Given the description of an element on the screen output the (x, y) to click on. 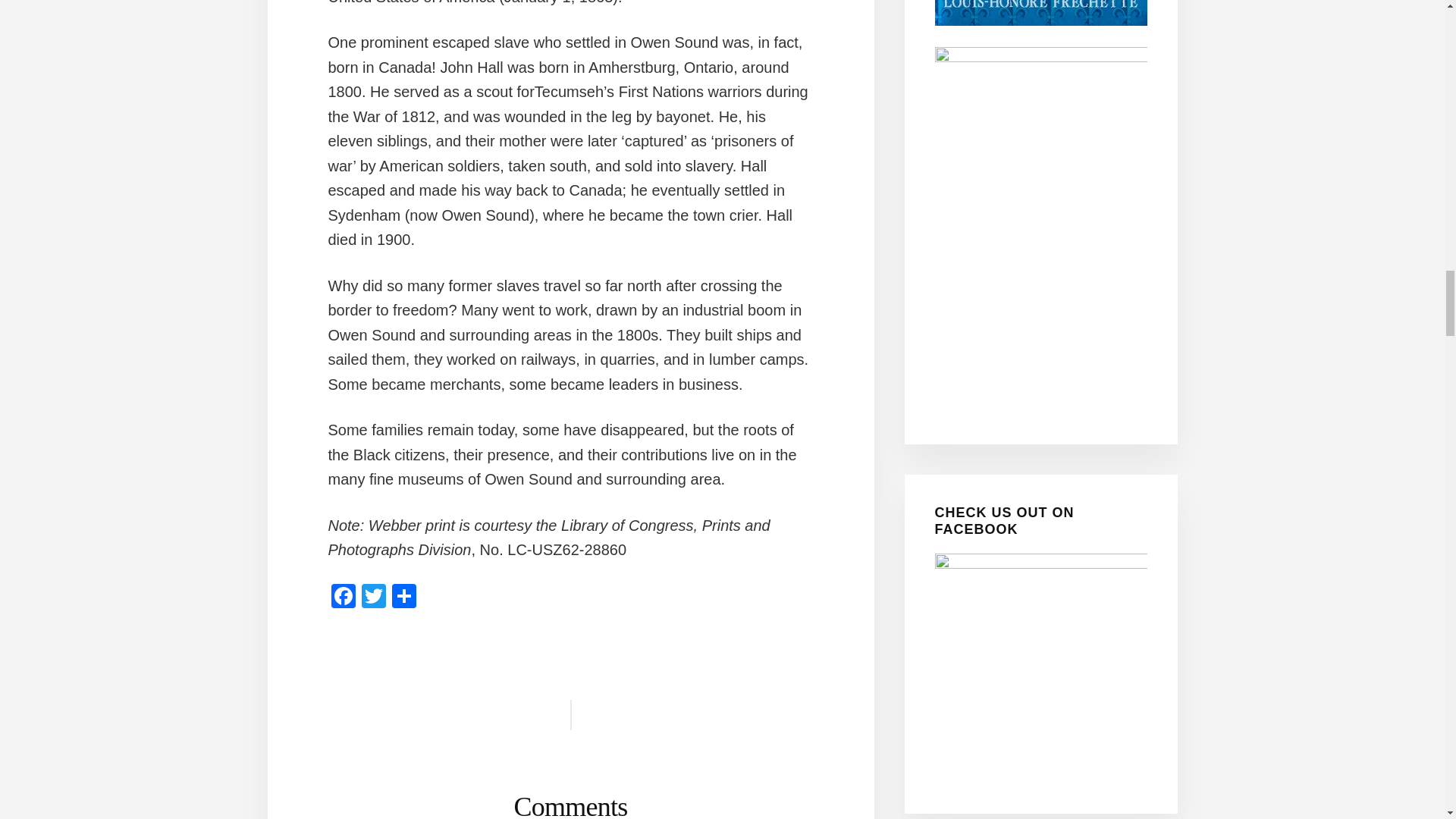
Twitter (373, 597)
Facebook (342, 597)
